Given the description of an element on the screen output the (x, y) to click on. 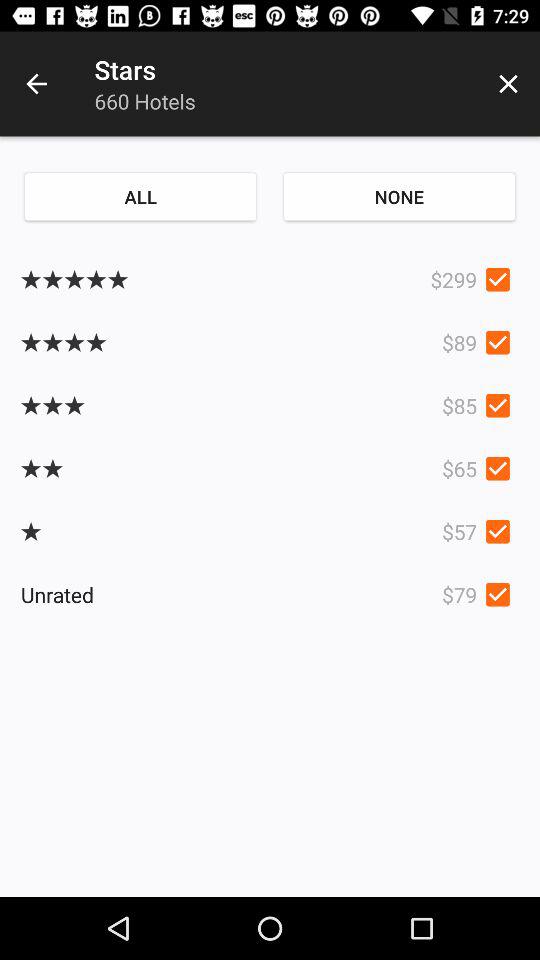
launch icon above the none (508, 83)
